Given the description of an element on the screen output the (x, y) to click on. 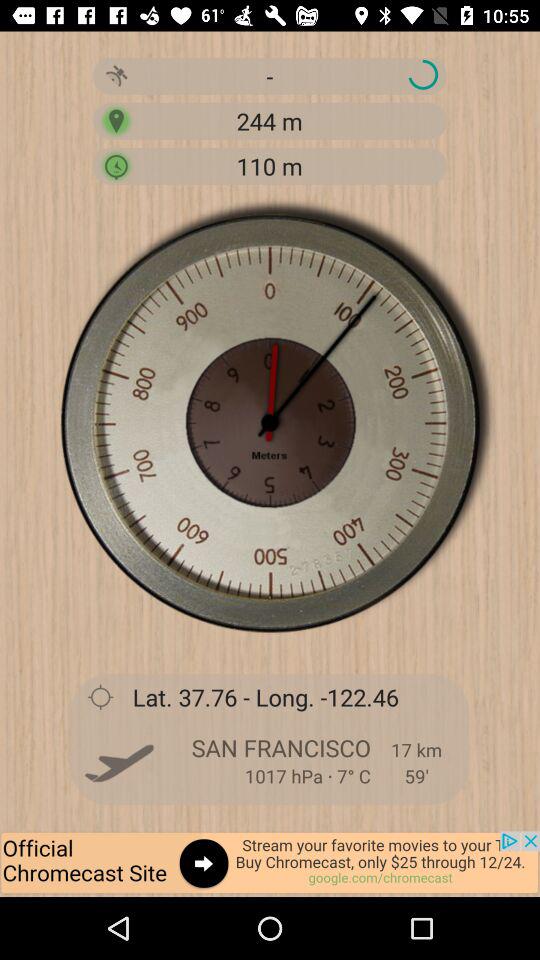
click on the advertisement (270, 864)
